Given the description of an element on the screen output the (x, y) to click on. 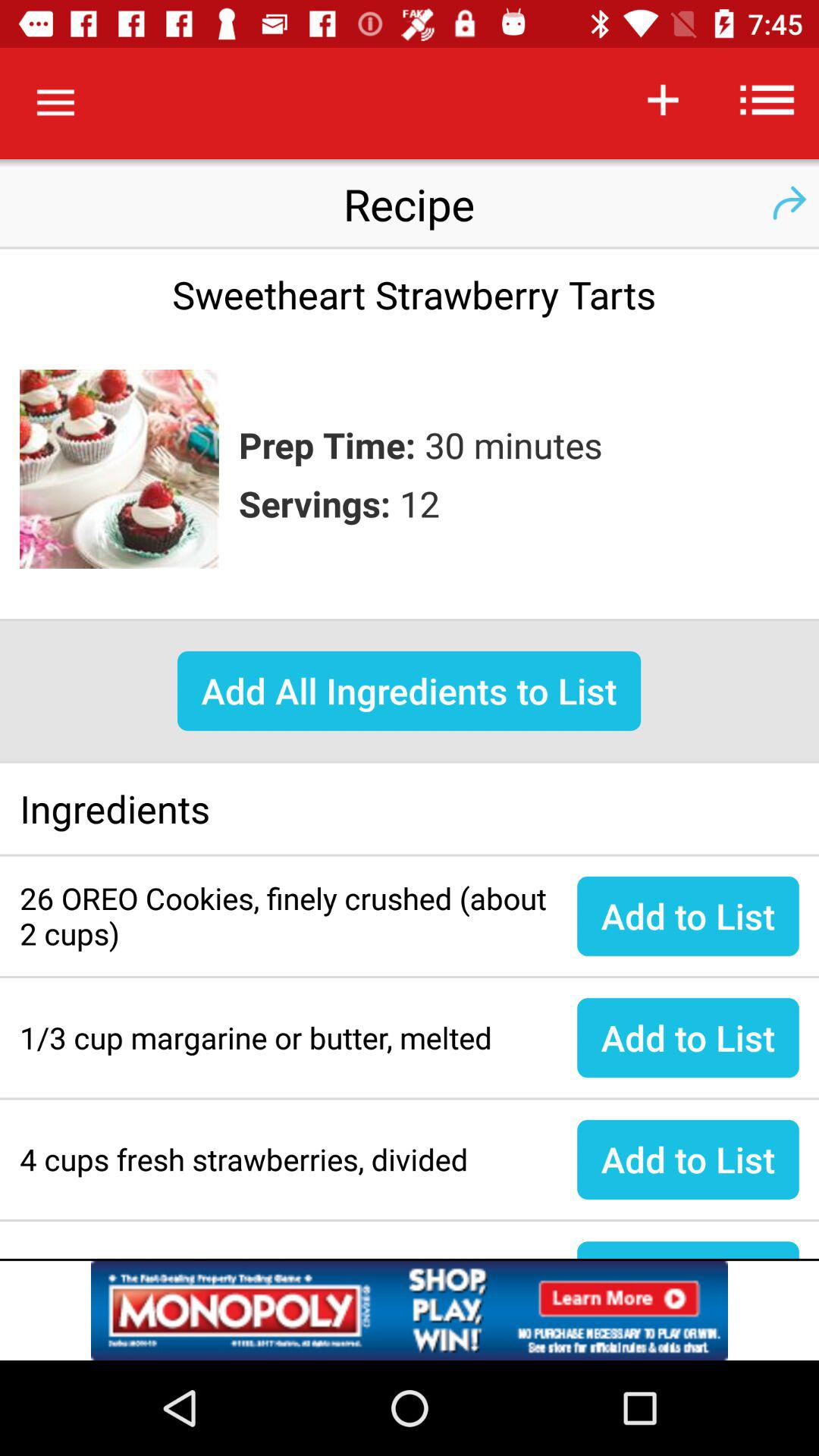
click on the icon next to recipe at top of the page (789, 203)
